Given the description of an element on the screen output the (x, y) to click on. 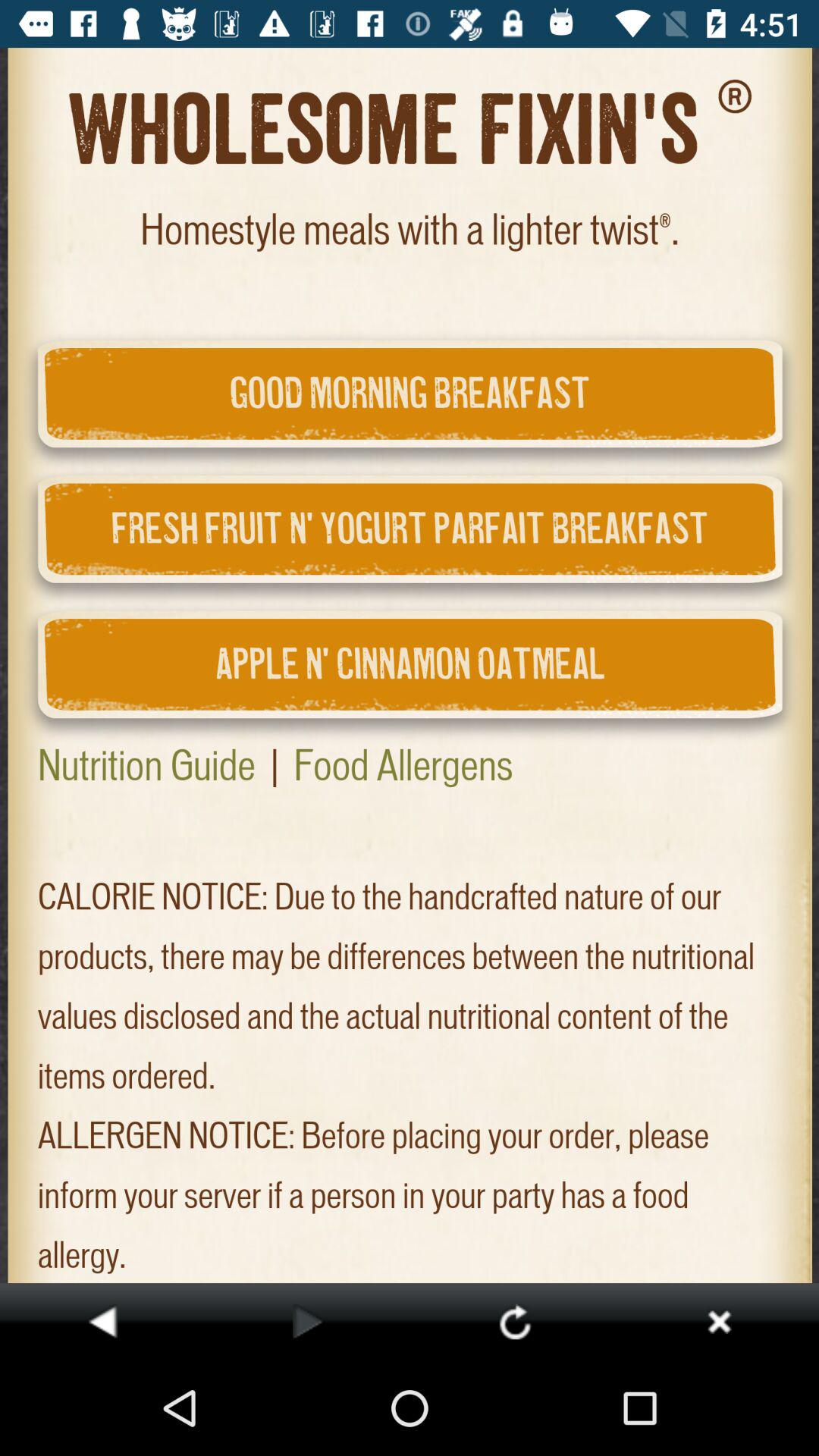
close this screen (719, 1321)
